Given the description of an element on the screen output the (x, y) to click on. 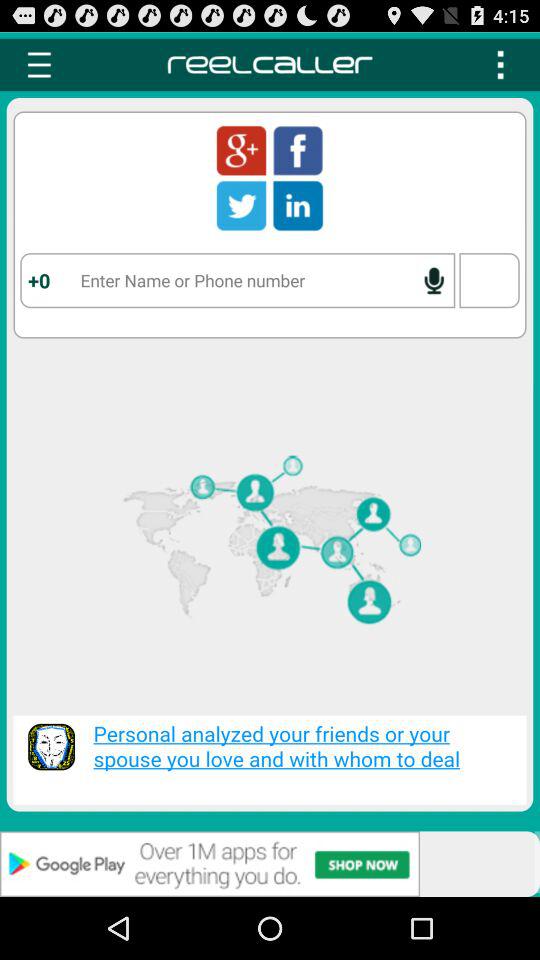
twitter logo (241, 205)
